Given the description of an element on the screen output the (x, y) to click on. 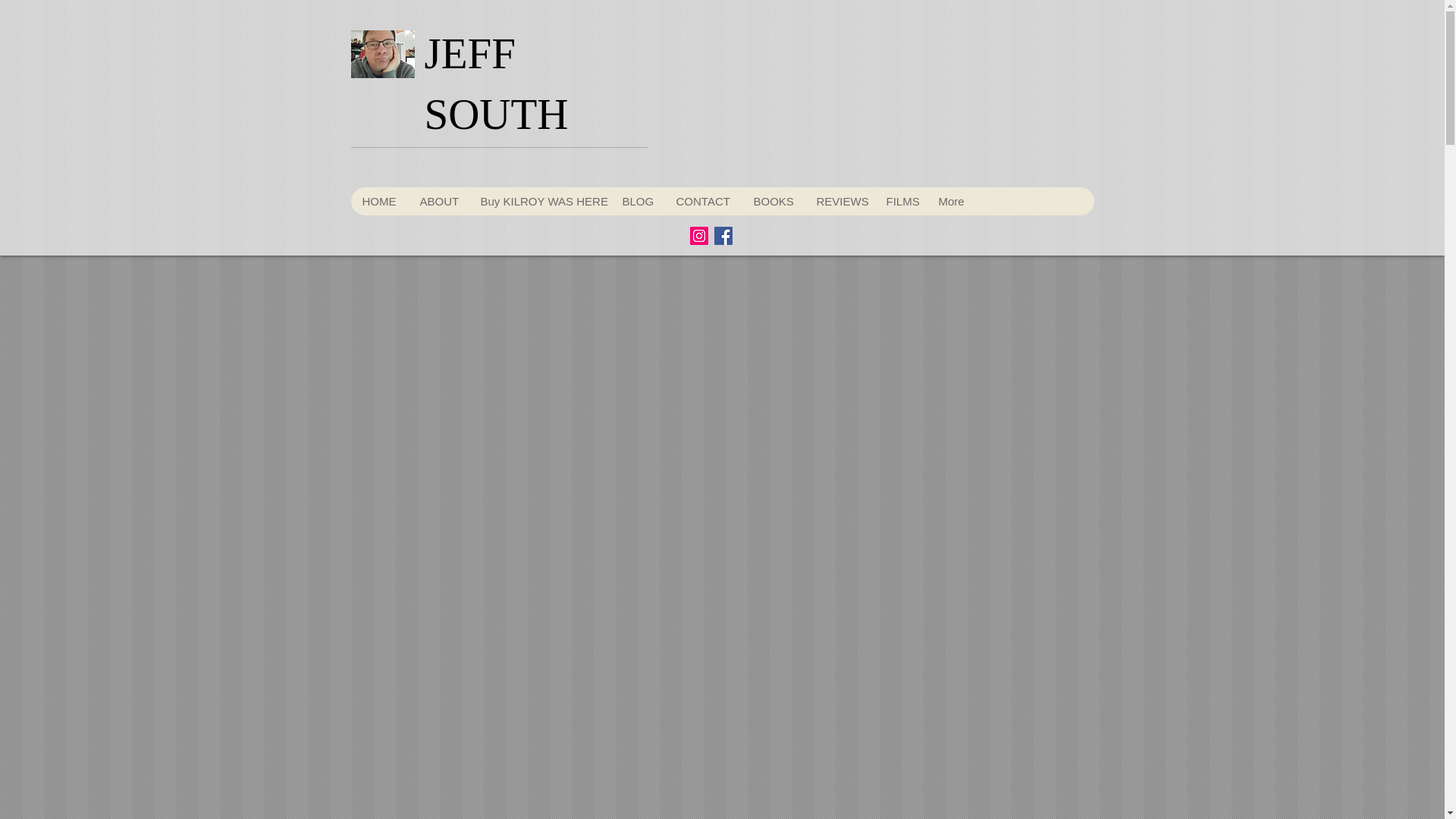
HOME (378, 201)
BLOG (636, 201)
CONTACT (702, 201)
ABOUT (437, 201)
Buy KILROY WAS HERE (539, 201)
BOOKS (773, 201)
REVIEWS (838, 201)
JEFF SOUTH (497, 83)
FILMS (899, 201)
